Given the description of an element on the screen output the (x, y) to click on. 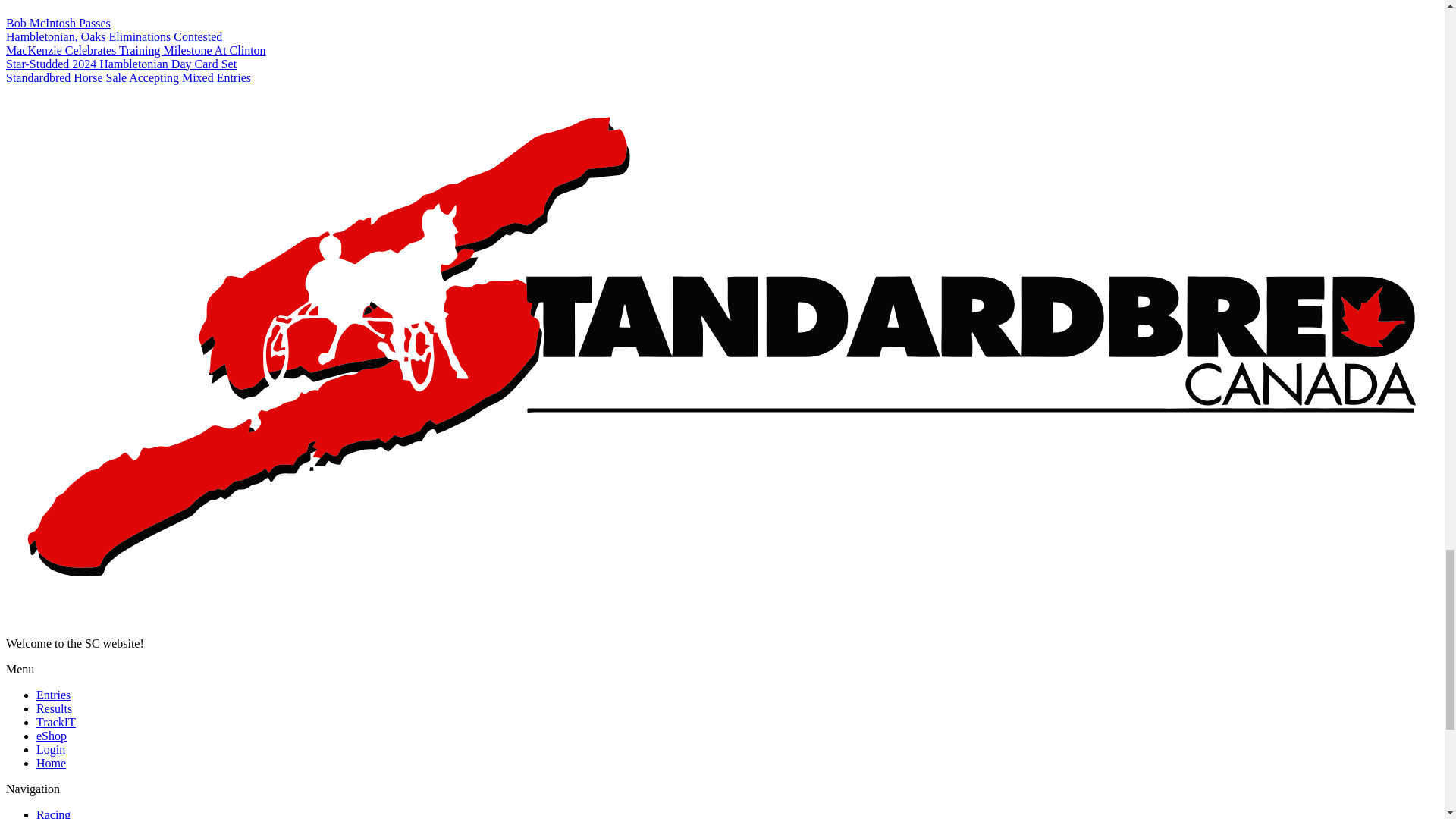
Homepage (50, 762)
